Given the description of an element on the screen output the (x, y) to click on. 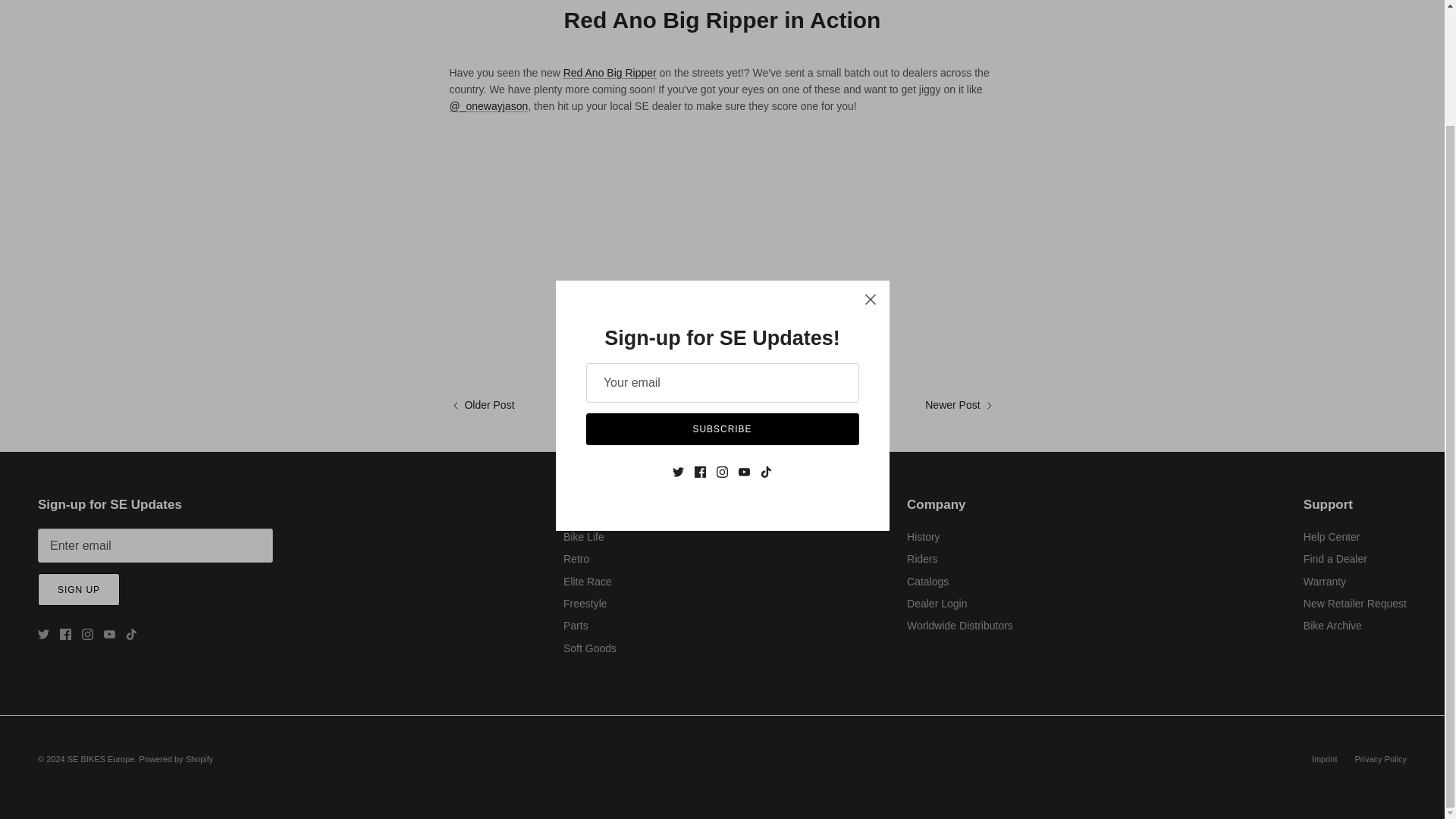
Facebook (65, 633)
Left (454, 405)
YouTube video player (660, 234)
Right (988, 405)
Twitter (43, 633)
Instagram (87, 633)
Youtube (109, 633)
